Given the description of an element on the screen output the (x, y) to click on. 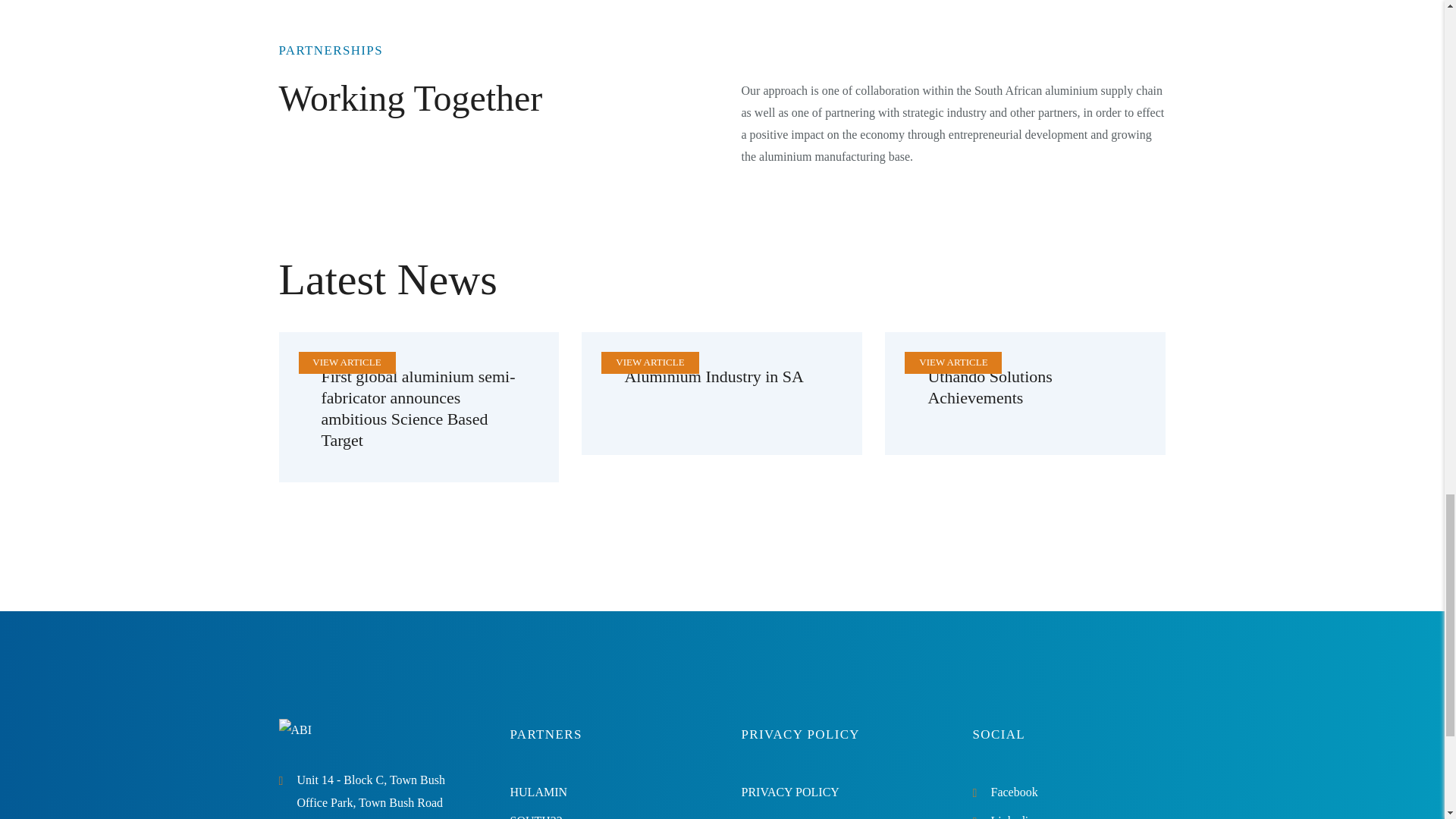
SOUTH32 (535, 816)
VIEW ARTICLE (346, 361)
VIEW ARTICLE (952, 361)
VIEW ARTICLE (649, 361)
PRIVACY POLICY (790, 791)
HULAMIN (538, 791)
